Given the description of an element on the screen output the (x, y) to click on. 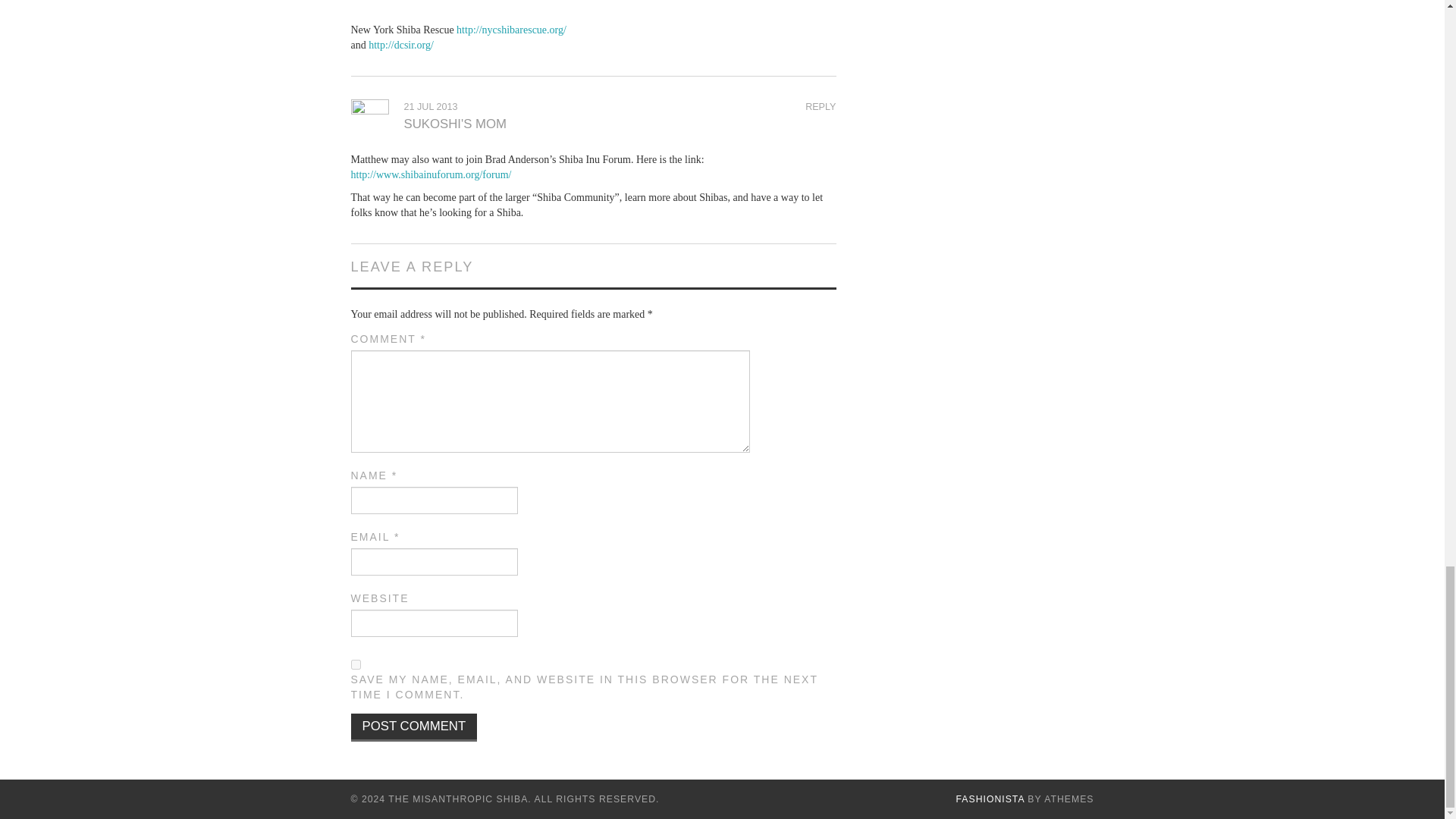
REPLY (820, 106)
KEATH RHYMER (453, 0)
FASHIONISTA (990, 798)
Post Comment (413, 727)
21 JUL 2013 (430, 106)
Post Comment (413, 727)
yes (354, 664)
